Given the description of an element on the screen output the (x, y) to click on. 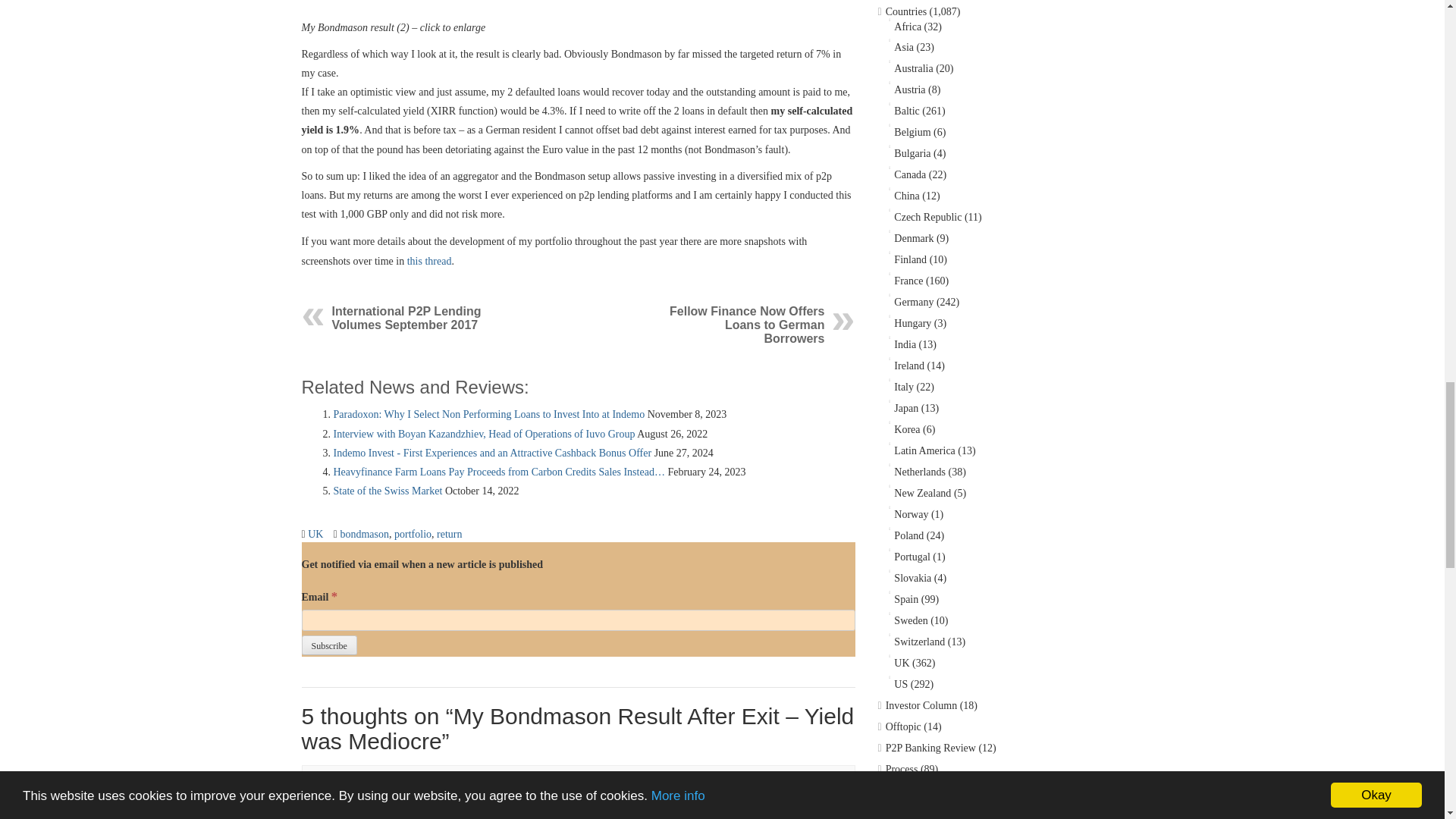
UK (315, 533)
bondmason (363, 533)
Fellow Finance Now Offers Loans to German Borrowers (746, 324)
State of the Swiss Market (387, 490)
International P2P Lending Volumes September 2017 (406, 317)
portfolio (412, 533)
September 22, 2017 (511, 780)
return (448, 533)
Subscribe (328, 645)
Subscribe (328, 645)
this thread (429, 260)
